Given the description of an element on the screen output the (x, y) to click on. 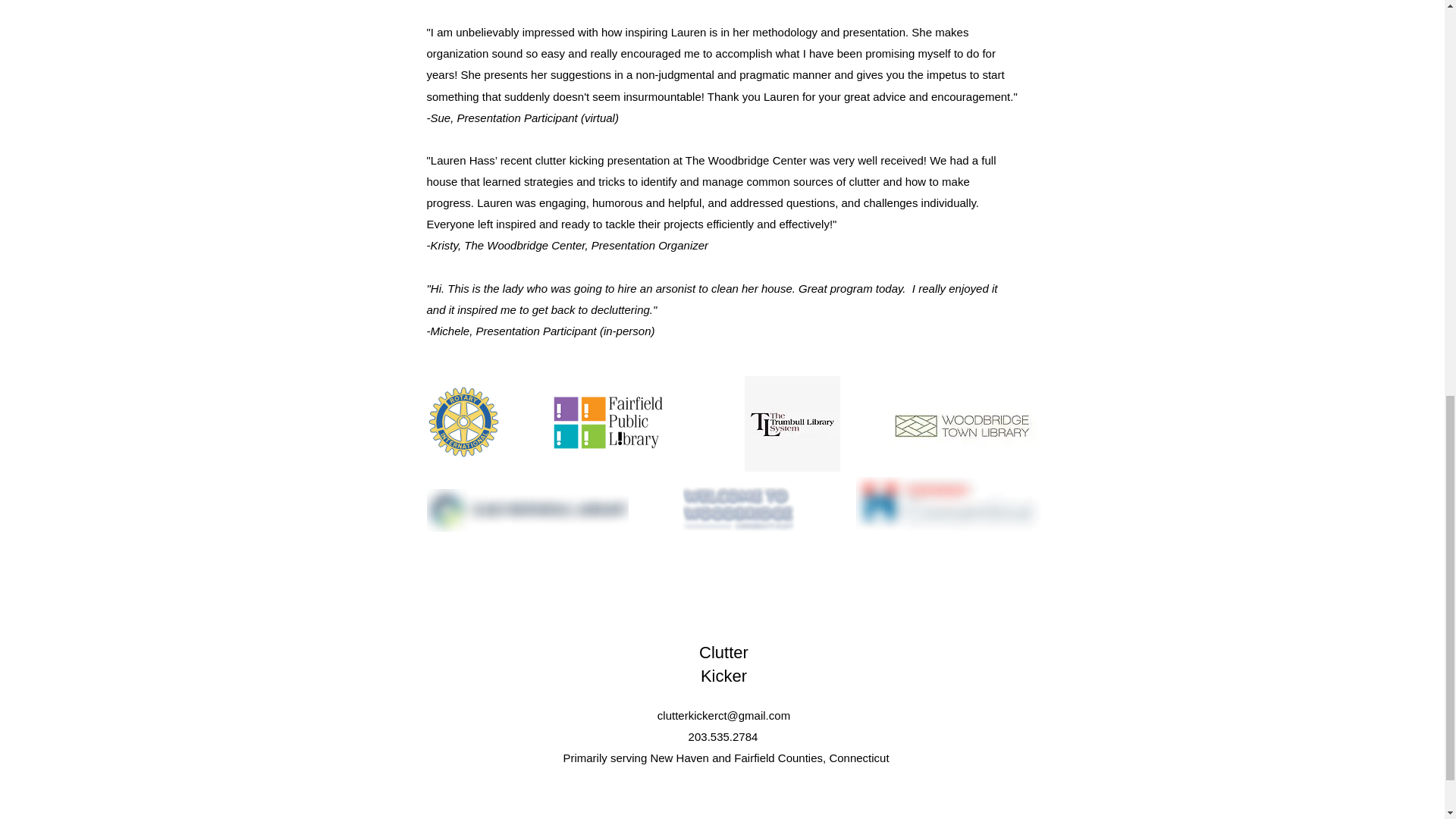
trumbull library.jpg (792, 423)
woodbridge library.jpg (962, 425)
Clutter Kicker (723, 663)
hadassah.png (949, 502)
